Given the description of an element on the screen output the (x, y) to click on. 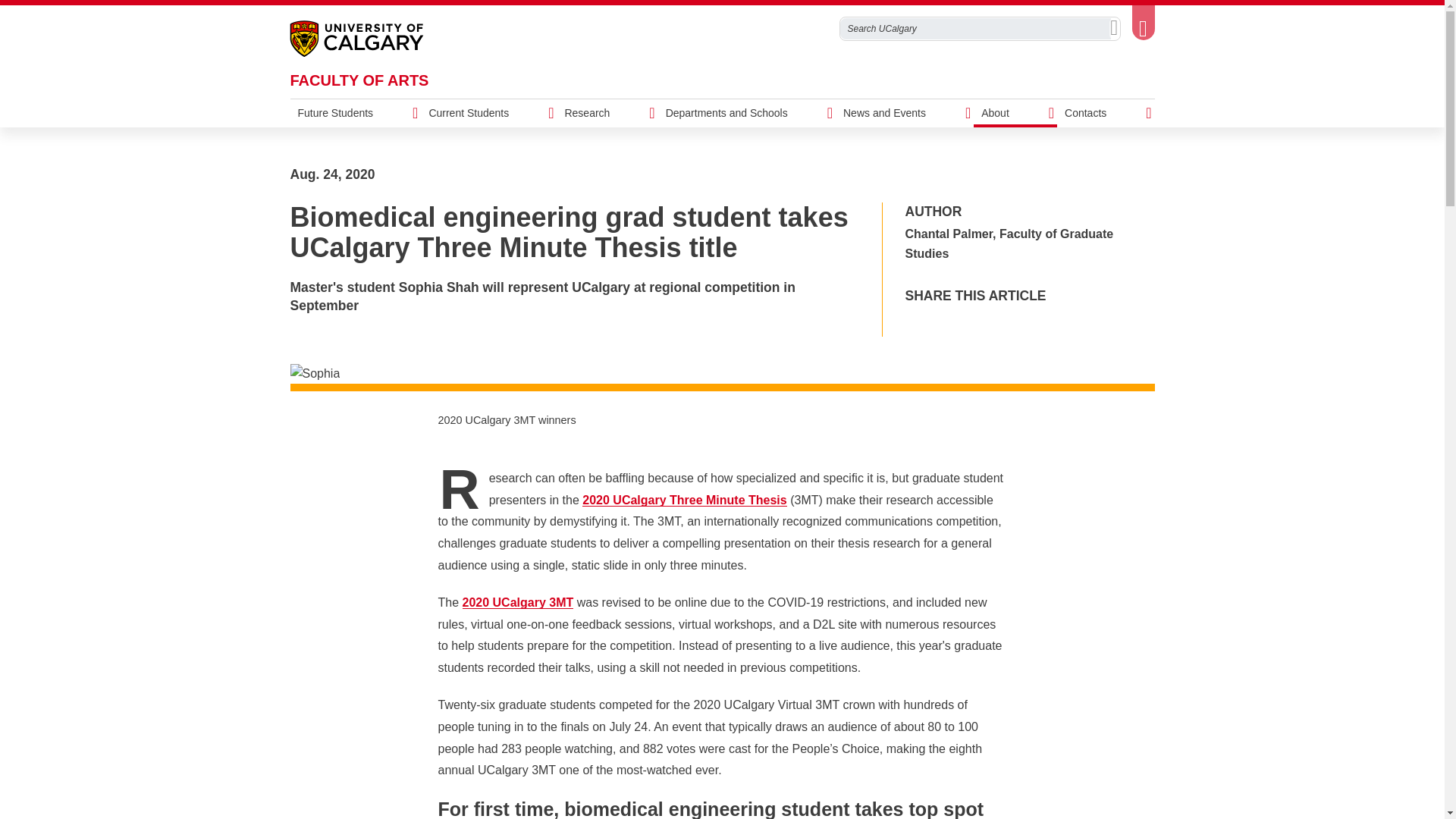
FACULTY OF ARTS (358, 80)
